Given the description of an element on the screen output the (x, y) to click on. 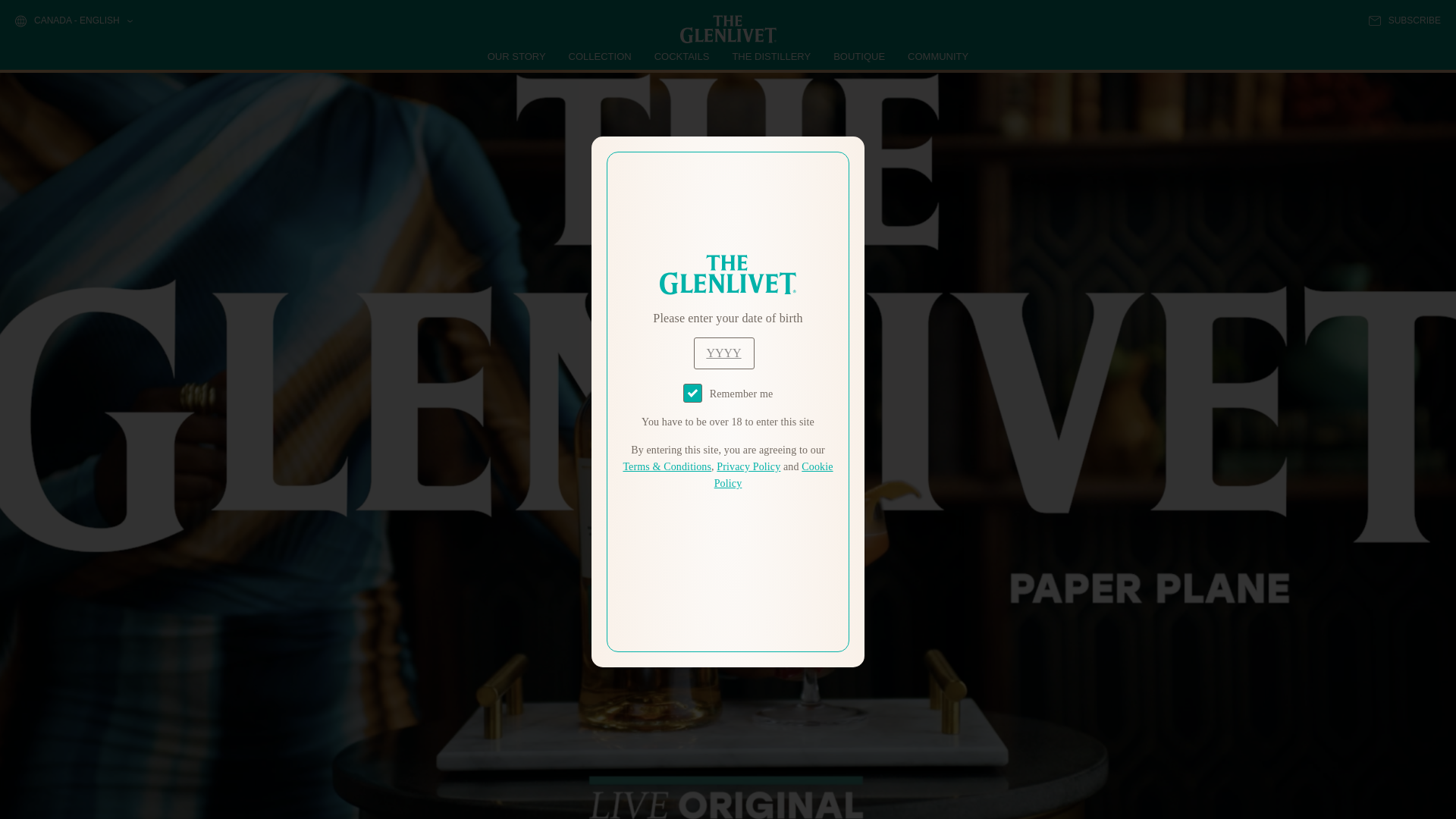
THE DISTILLERY (771, 56)
Cookie Policy (773, 474)
SUBSCRIBE (1404, 20)
COCKTAILS (681, 56)
CANADA - ENGLISH (73, 21)
Privacy Policy (748, 466)
year (723, 353)
OUR STORY (516, 56)
BOUTIQUE (858, 56)
COLLECTION (600, 56)
COMMUNITY (937, 56)
